Given the description of an element on the screen output the (x, y) to click on. 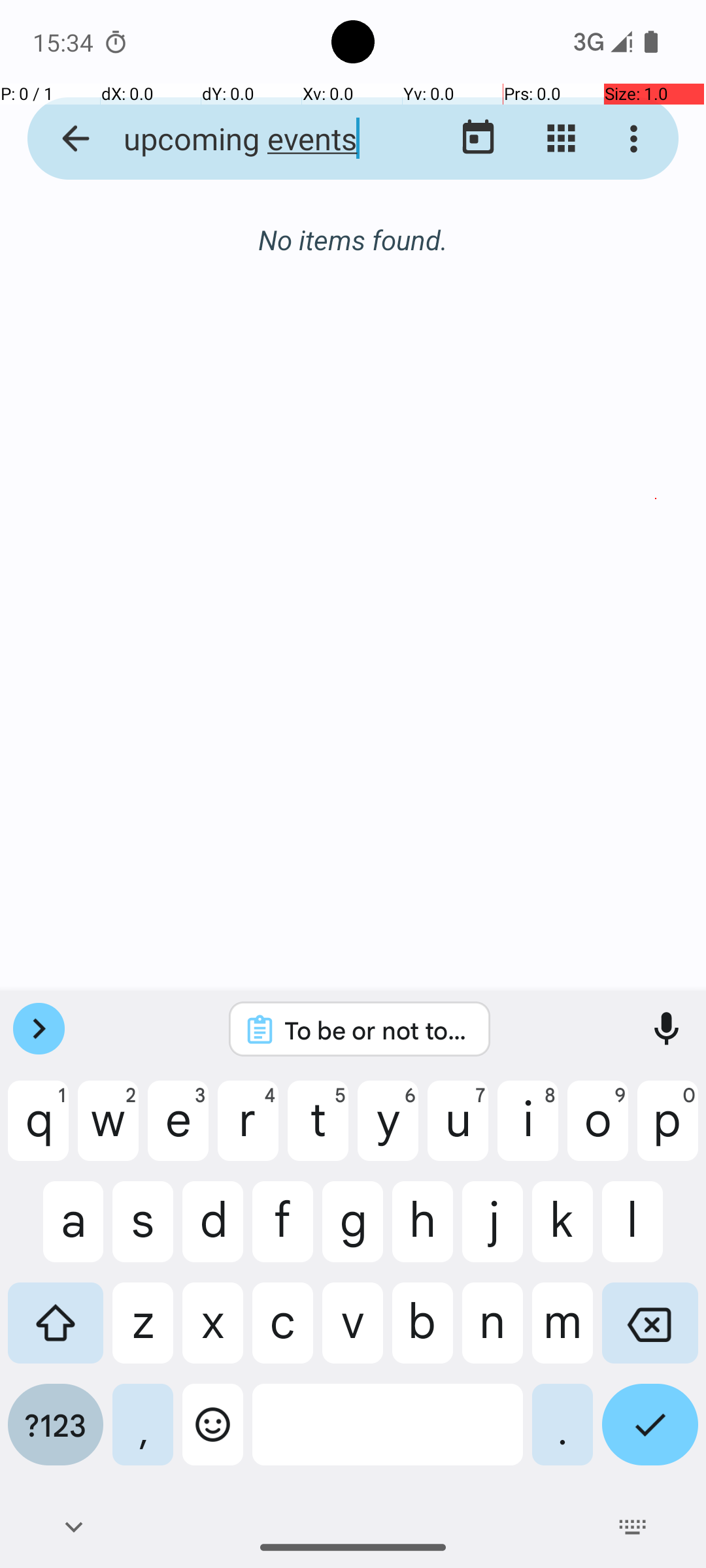
upcoming events Element type: android.widget.EditText (252, 138)
September Element type: android.widget.TextView (352, 239)
To be or not to be. Element type: android.widget.TextView (376, 1029)
